Given the description of an element on the screen output the (x, y) to click on. 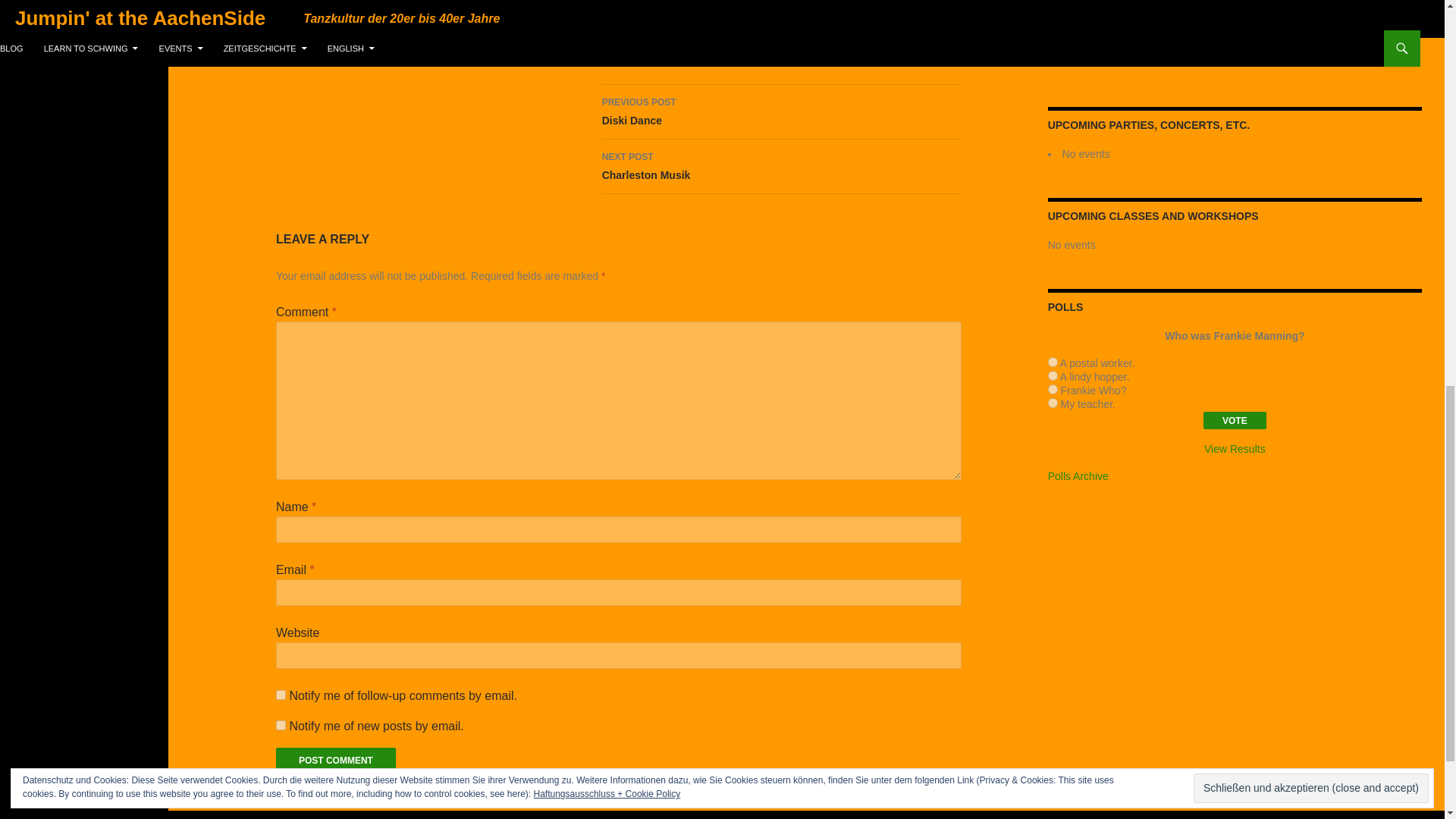
125 (1053, 361)
View Results Of This Poll (1234, 449)
Post Comment (336, 760)
127 (1053, 388)
subscribe (280, 695)
128 (1053, 402)
   Vote    (1235, 420)
subscribe (280, 725)
126 (1053, 375)
